Given the description of an element on the screen output the (x, y) to click on. 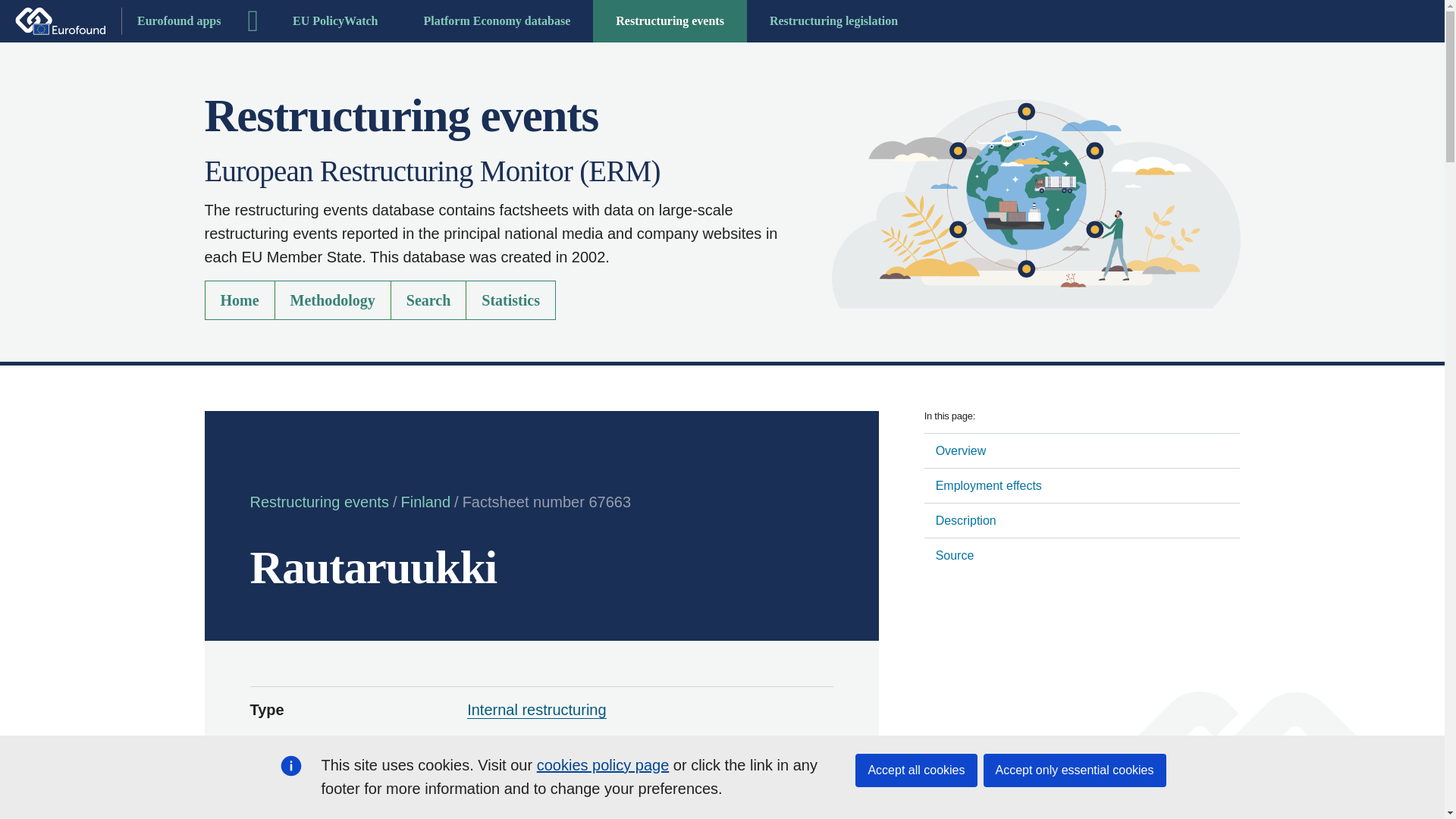
Overview (1082, 450)
Home (1035, 202)
Finland (491, 760)
Accept only essential cookies (1074, 770)
Methodology (333, 300)
Accept all cookies (916, 770)
Home (240, 300)
Restructuring events (319, 501)
Finland (424, 501)
Search (428, 300)
Eurofound apps (117, 21)
cookies policy page (603, 764)
Restructuring events (669, 21)
Description (1082, 520)
Platform Economy database (496, 21)
